Given the description of an element on the screen output the (x, y) to click on. 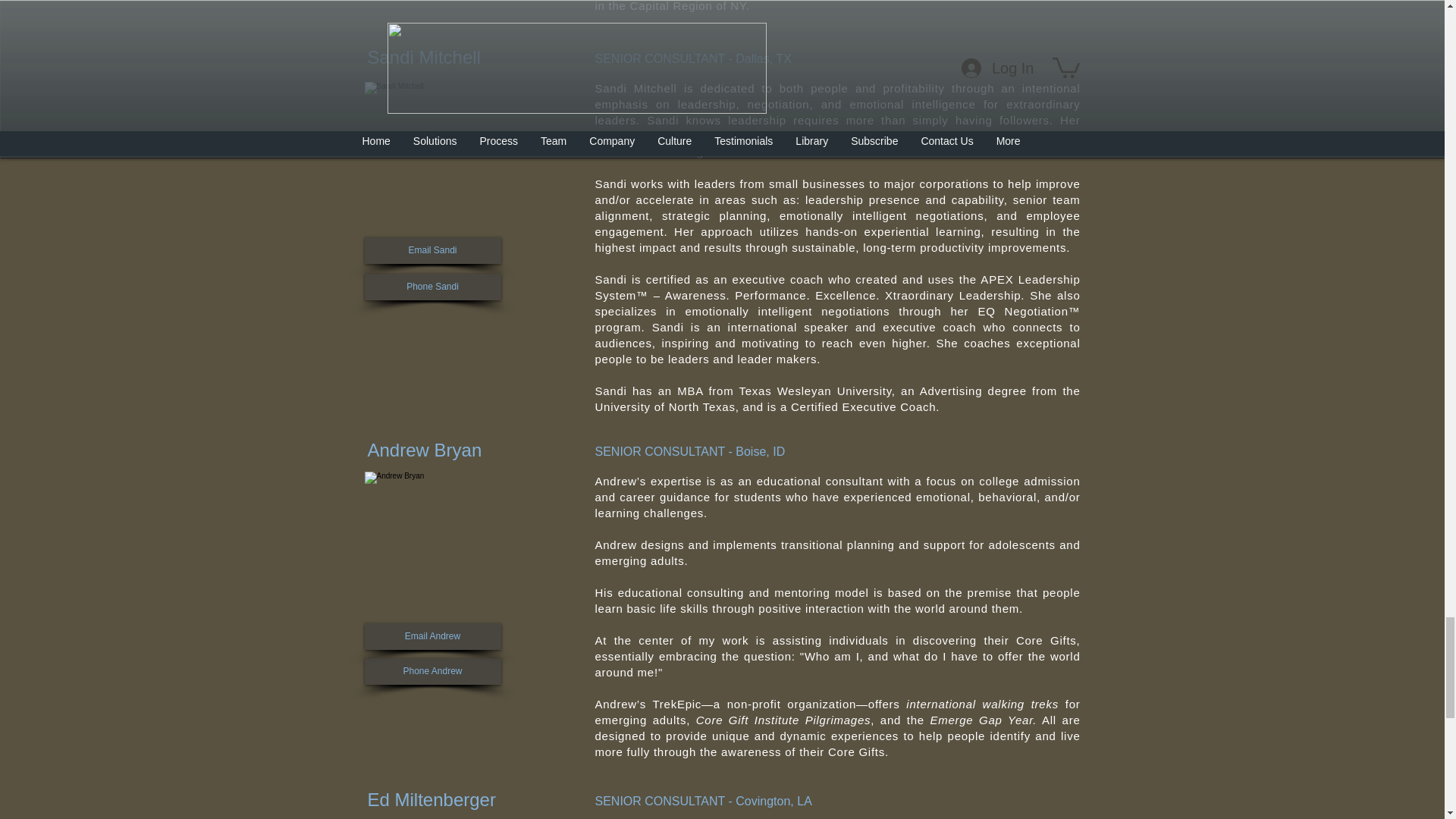
Email Sandi (432, 250)
Phone Sandi (432, 286)
Email Andrew (432, 636)
Phone Andrew (432, 671)
